Given the description of an element on the screen output the (x, y) to click on. 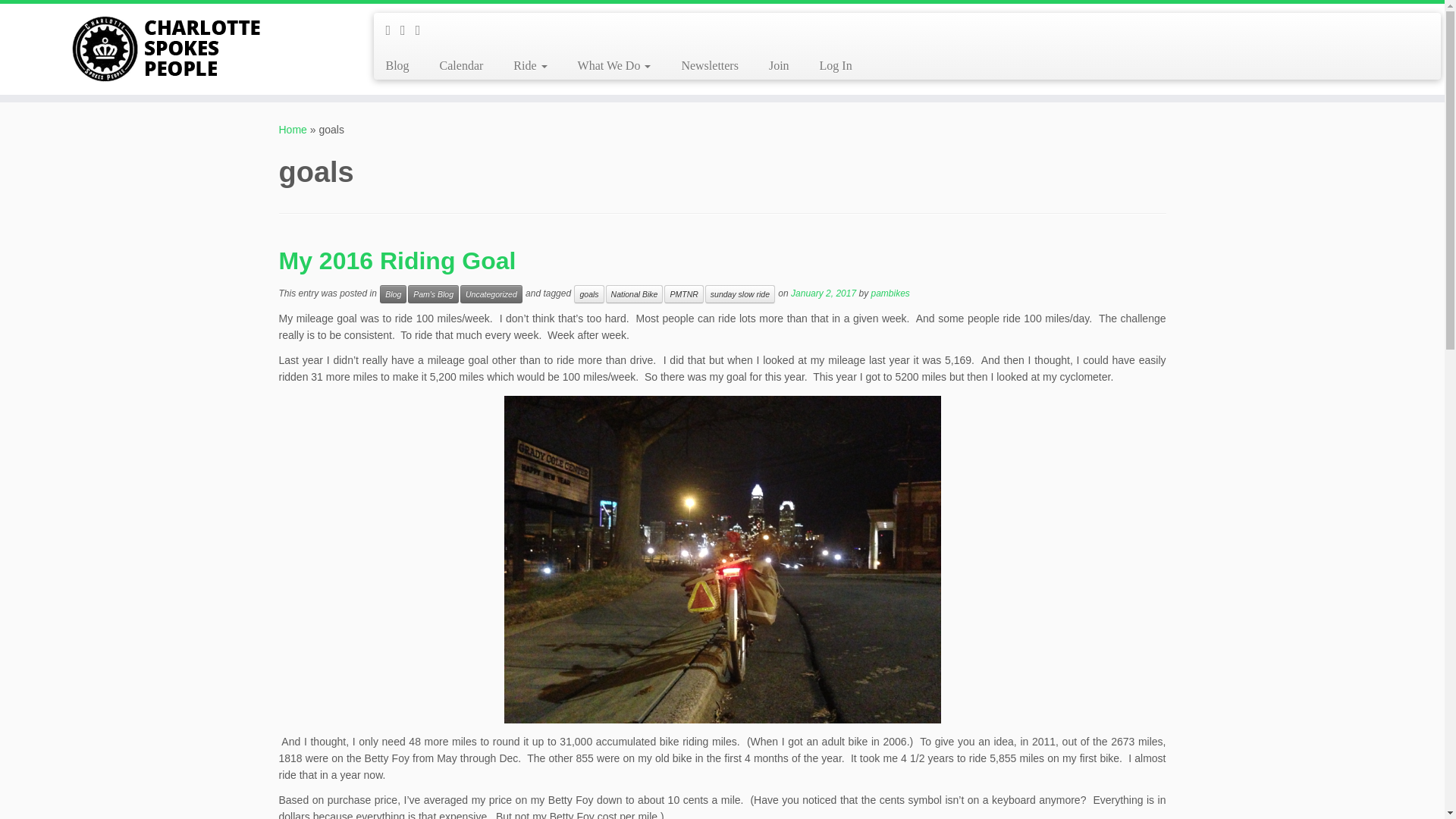
12:05 am (823, 293)
January 2, 2017 (823, 293)
pambikes (889, 293)
Uncategorized (491, 294)
Ride (529, 65)
Follow me on Twitter (407, 29)
View all posts in goals (588, 294)
View all posts in Blog (393, 294)
My 2016 Riding Goal (397, 260)
Log In (828, 65)
National Bike (634, 294)
View all posts in PMTNR (683, 294)
Calendar (462, 65)
View all posts in sunday slow ride (739, 294)
Subscribe to my rss feed (392, 29)
